Given the description of an element on the screen output the (x, y) to click on. 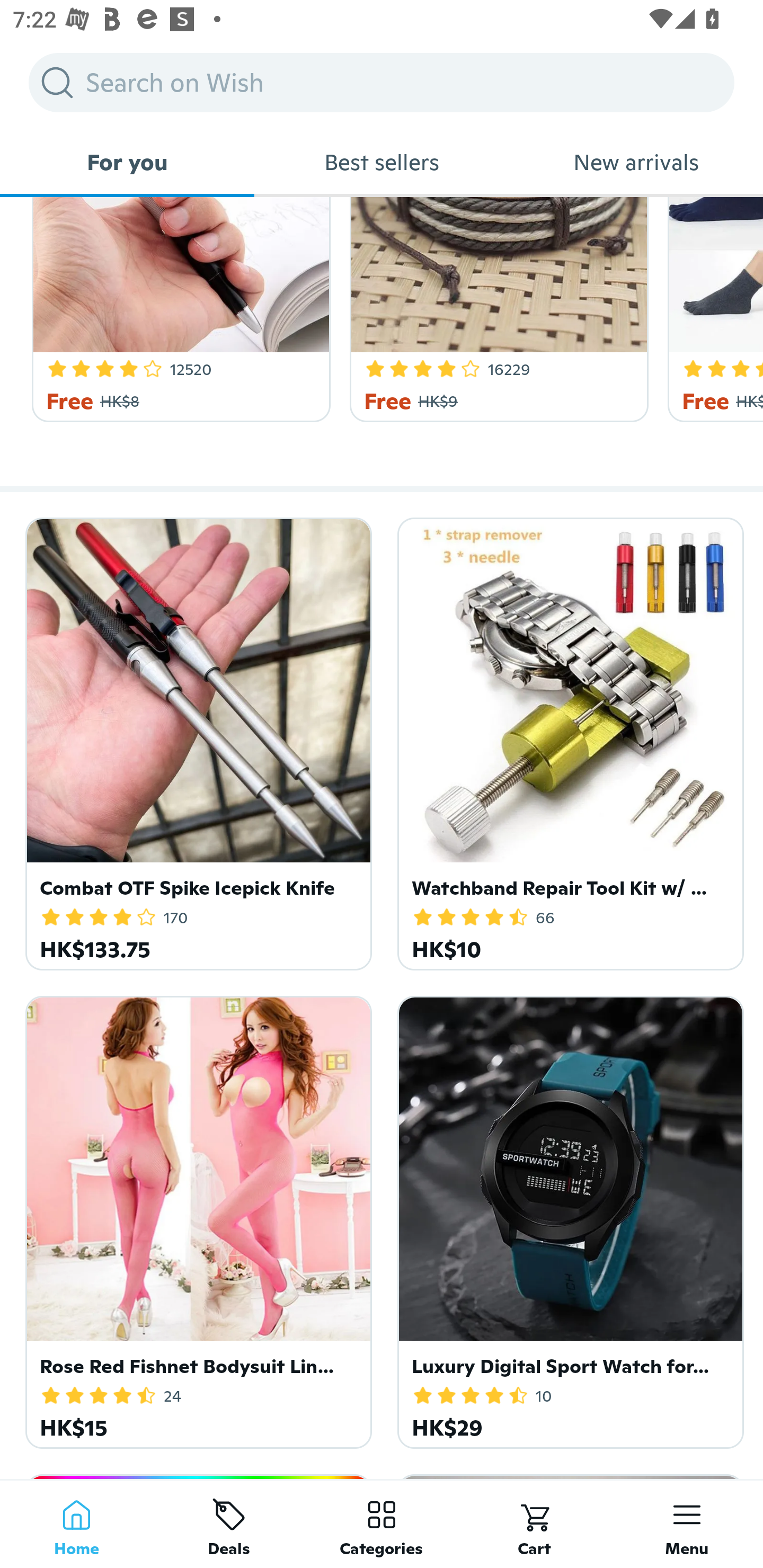
Search on Wish (381, 82)
For you (127, 161)
Best sellers (381, 161)
New arrivals (635, 161)
3.9 Star Rating 12520 Free HK$8 (177, 309)
3.8 Star Rating 16229 Free HK$9 (495, 309)
Home (76, 1523)
Deals (228, 1523)
Categories (381, 1523)
Cart (533, 1523)
Menu (686, 1523)
